Given the description of an element on the screen output the (x, y) to click on. 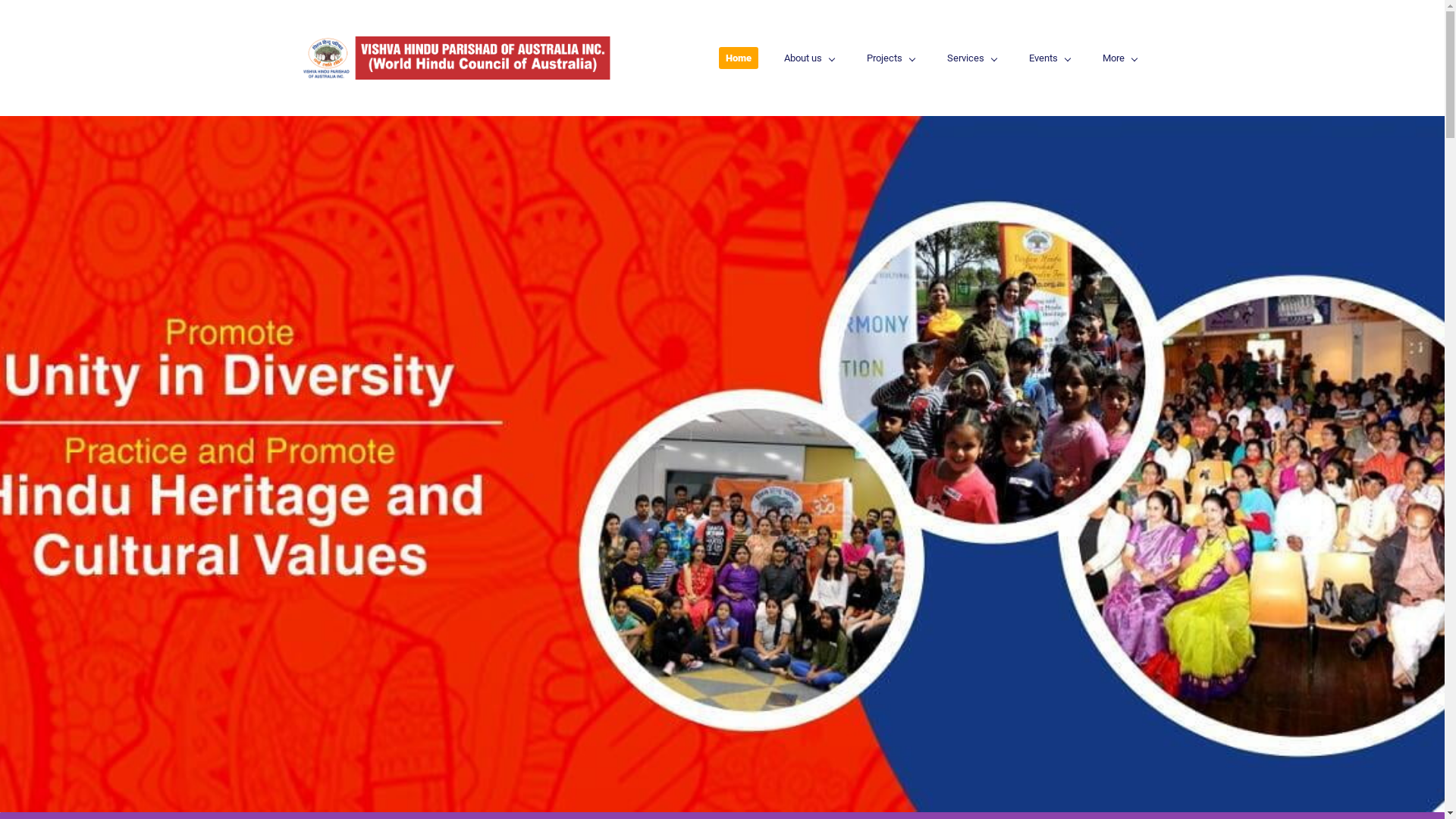
Home Element type: text (738, 58)
Events Element type: text (1049, 58)
Projects Element type: text (890, 58)
Services Element type: text (971, 58)
More Element type: text (1118, 58)
About us Element type: text (808, 58)
